Given the description of an element on the screen output the (x, y) to click on. 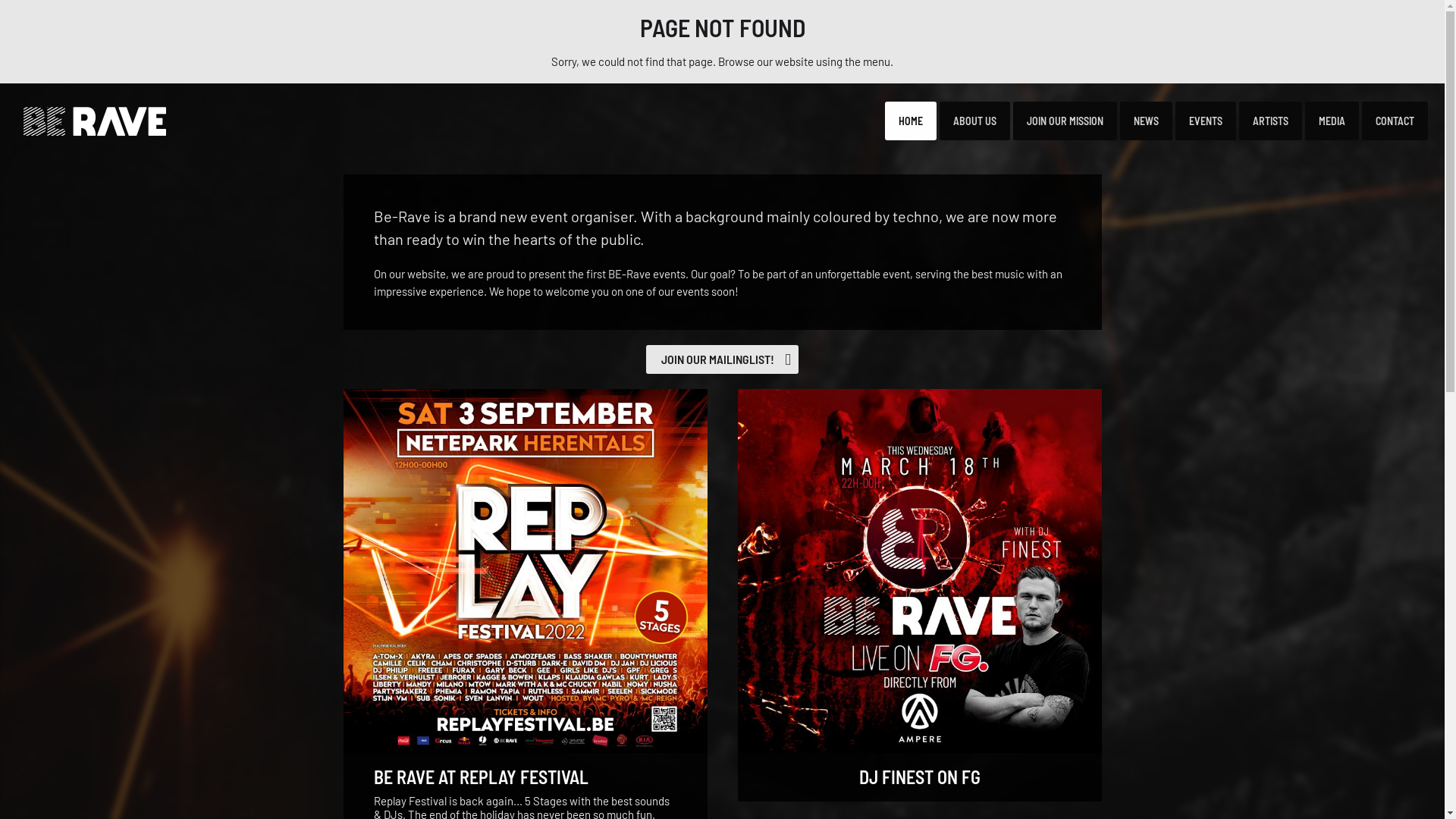
CONTACT Element type: text (1394, 120)
DJ Finest on FG Element type: hover (919, 571)
HOME Element type: text (910, 120)
EVENTS Element type: text (1205, 120)
BE-Rave Element type: hover (91, 121)
DJ FINEST ON FG Element type: text (918, 776)
Be Rave at Replay Festival Element type: hover (524, 571)
JOIN OUR MAILINGLIST! Element type: text (722, 359)
BE RAVE AT REPLAY FESTIVAL Element type: text (480, 776)
ABOUT US Element type: text (974, 120)
NEWS Element type: text (1146, 120)
JOIN OUR MISSION Element type: text (1065, 120)
ARTISTS Element type: text (1270, 120)
MEDIA Element type: text (1331, 120)
